Given the description of an element on the screen output the (x, y) to click on. 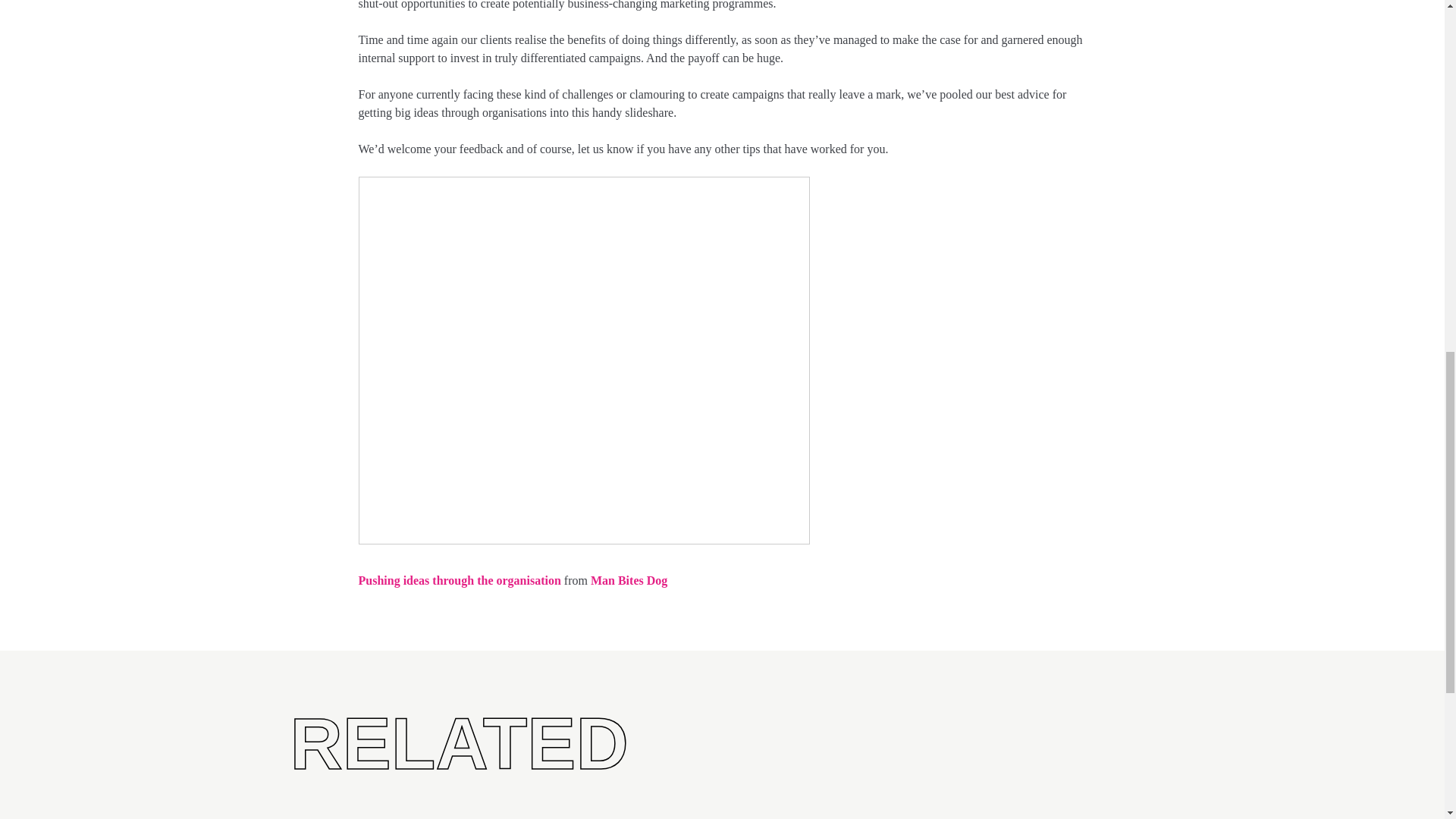
Pushing ideas through the organisation (459, 580)
Man Bites Dog (628, 580)
Pushing ideas through the organisation (459, 580)
